Given the description of an element on the screen output the (x, y) to click on. 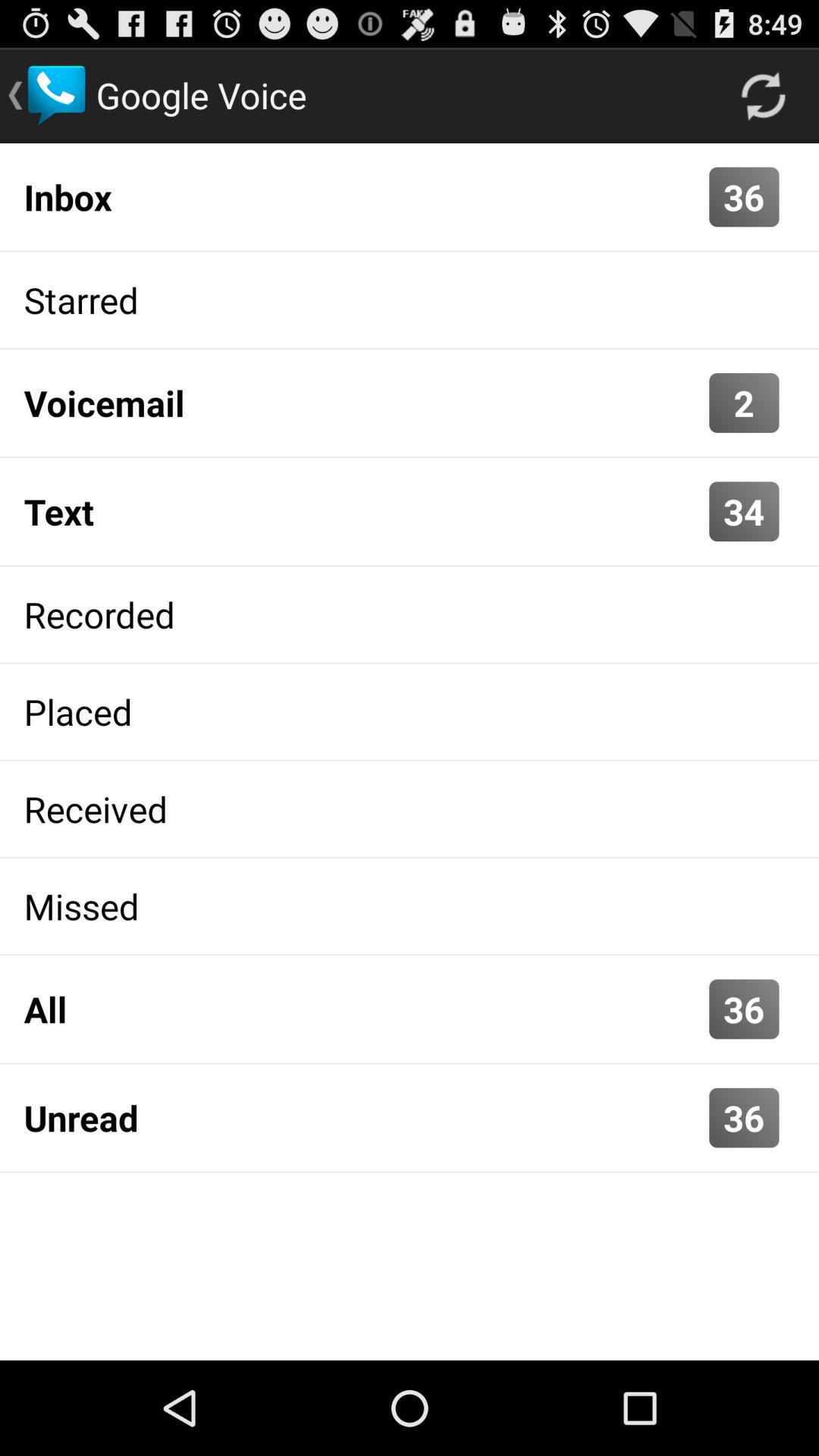
select the app above received (409, 711)
